Given the description of an element on the screen output the (x, y) to click on. 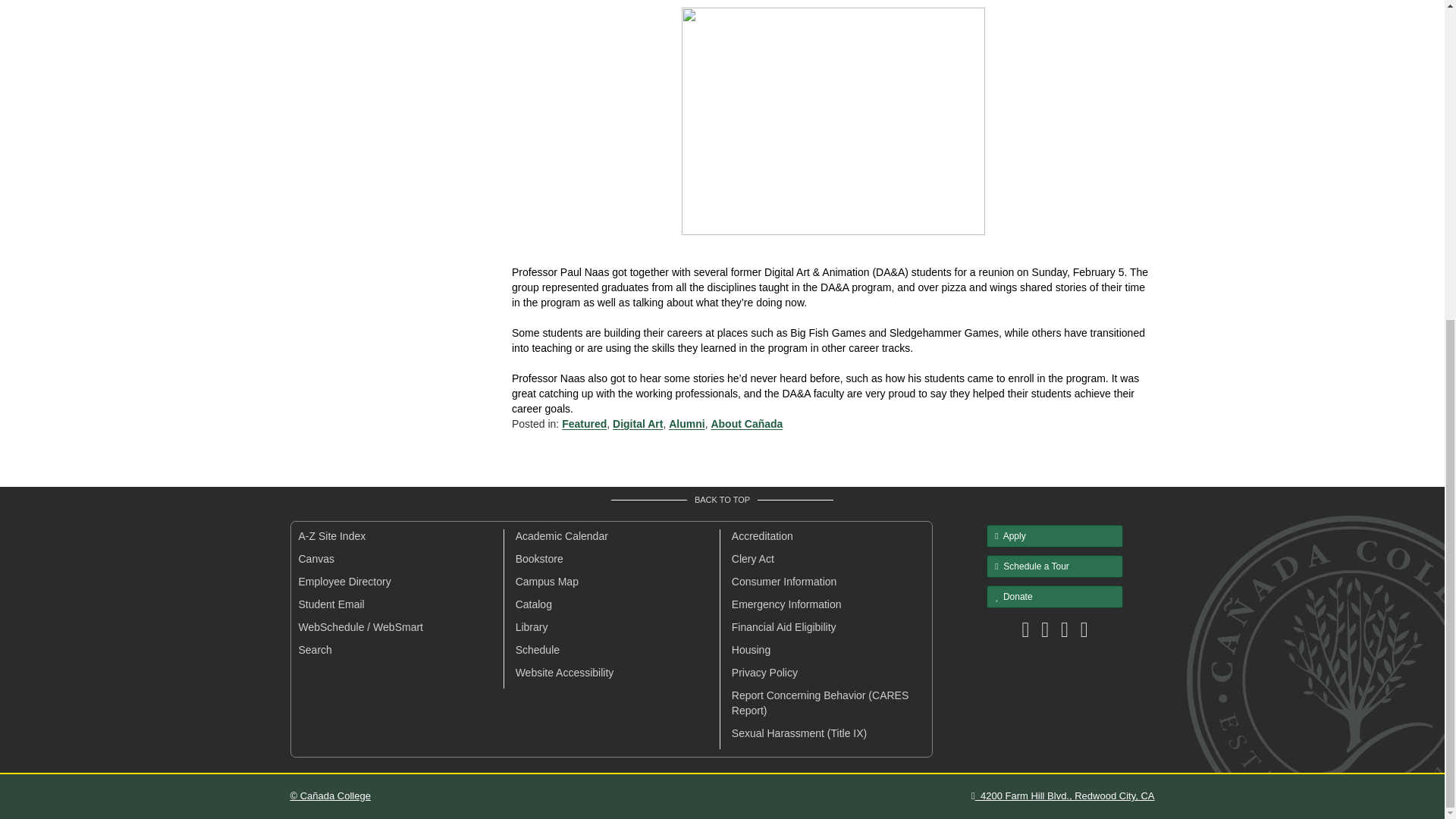
Back to top (721, 500)
Canvas (316, 558)
Featured (584, 423)
WebSchedule (331, 626)
Student Email (331, 604)
Alumni (686, 423)
Digital Art (637, 423)
BACK TO TOP (721, 500)
Search (314, 649)
A-Z Site Index (332, 535)
